Given the description of an element on the screen output the (x, y) to click on. 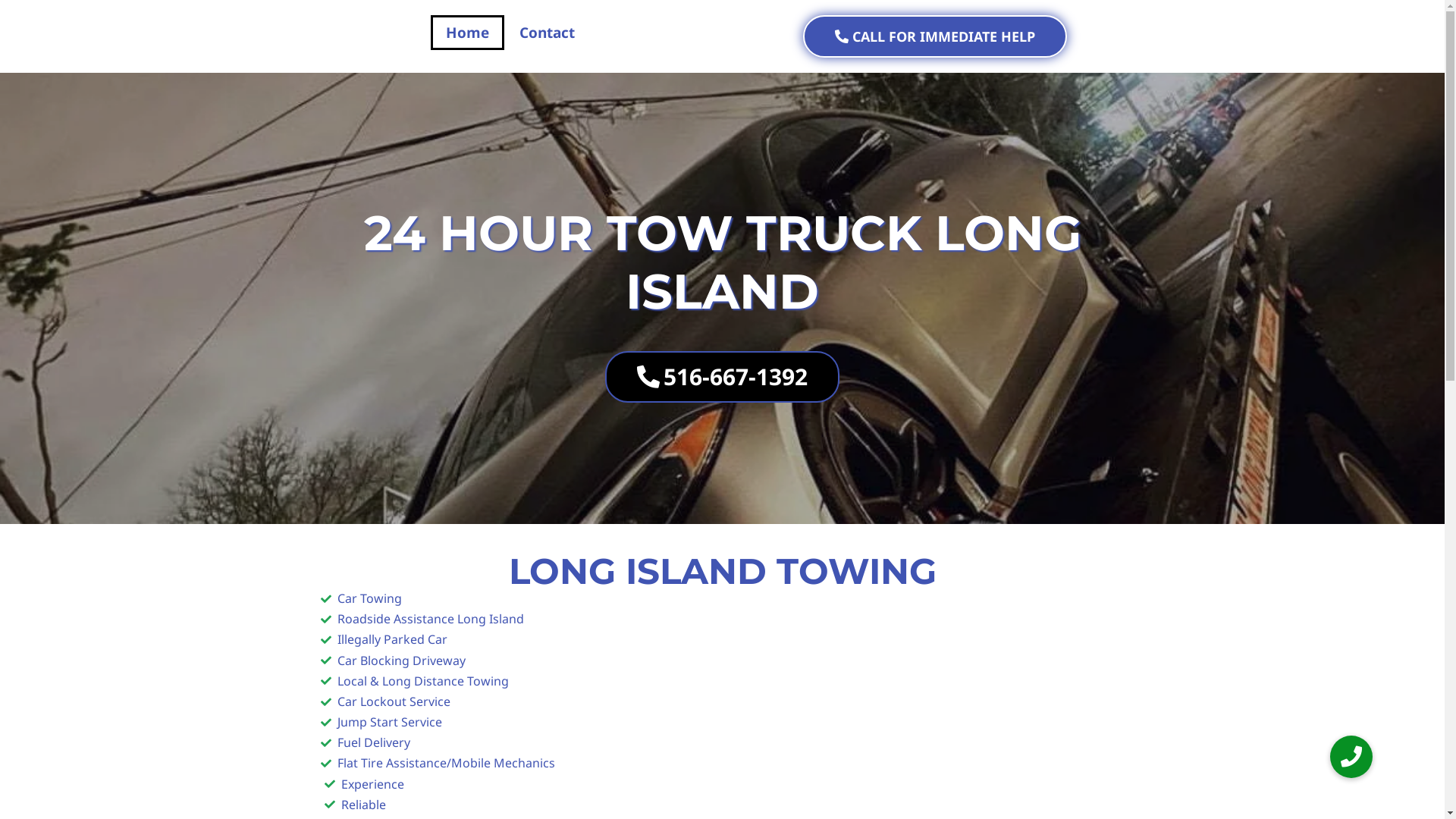
CALL FOR IMMEDIATE HELP Element type: text (934, 36)
516-667-1392 Element type: text (722, 376)
Home Element type: text (467, 32)
Contact Element type: text (546, 32)
